Given the description of an element on the screen output the (x, y) to click on. 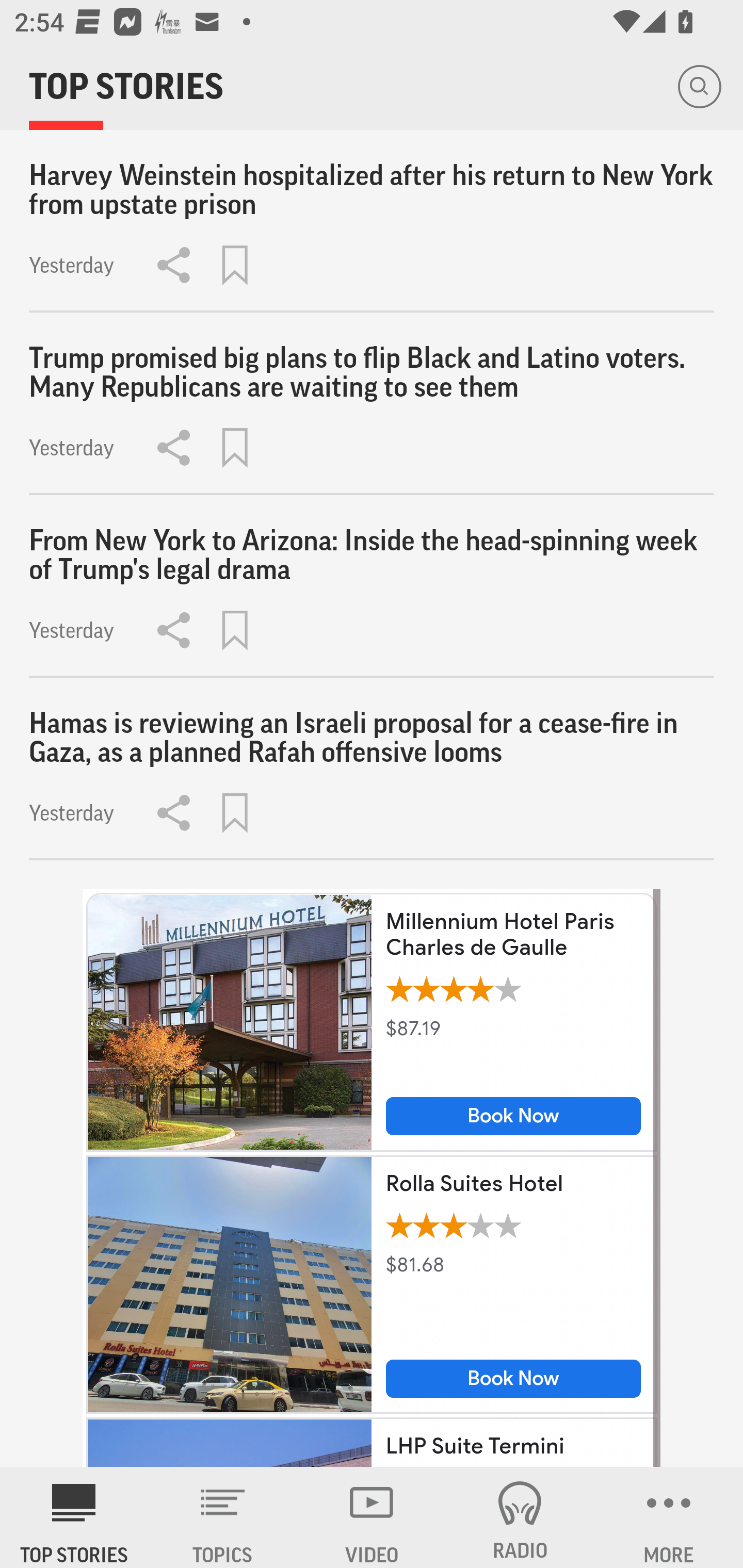
AP News TOP STORIES (74, 1517)
TOPICS (222, 1517)
VIDEO (371, 1517)
RADIO (519, 1517)
MORE (668, 1517)
